Given the description of an element on the screen output the (x, y) to click on. 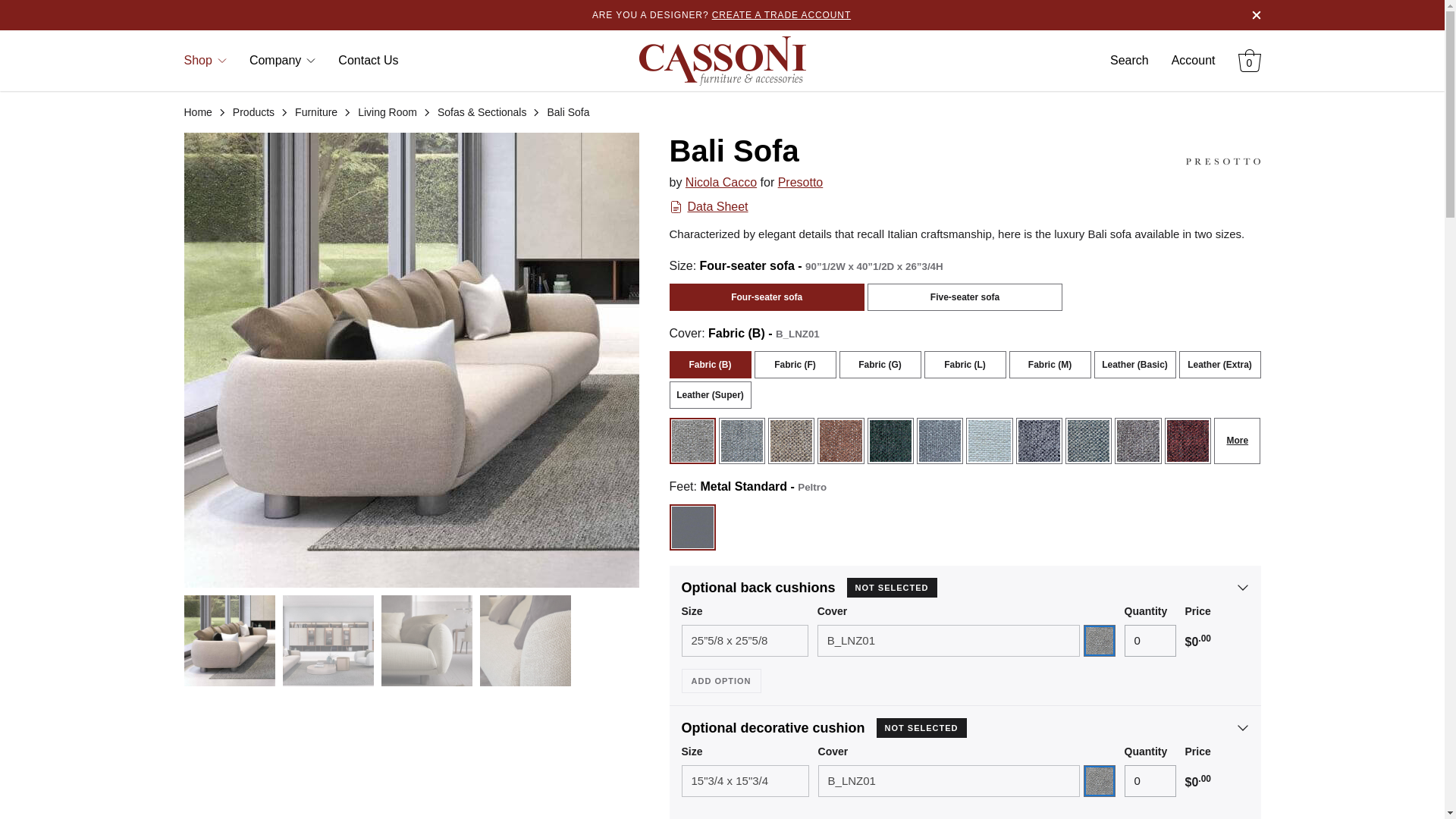
0 (1149, 780)
0 (1149, 640)
CREATE A TRADE ACCOUNT (780, 14)
